Given the description of an element on the screen output the (x, y) to click on. 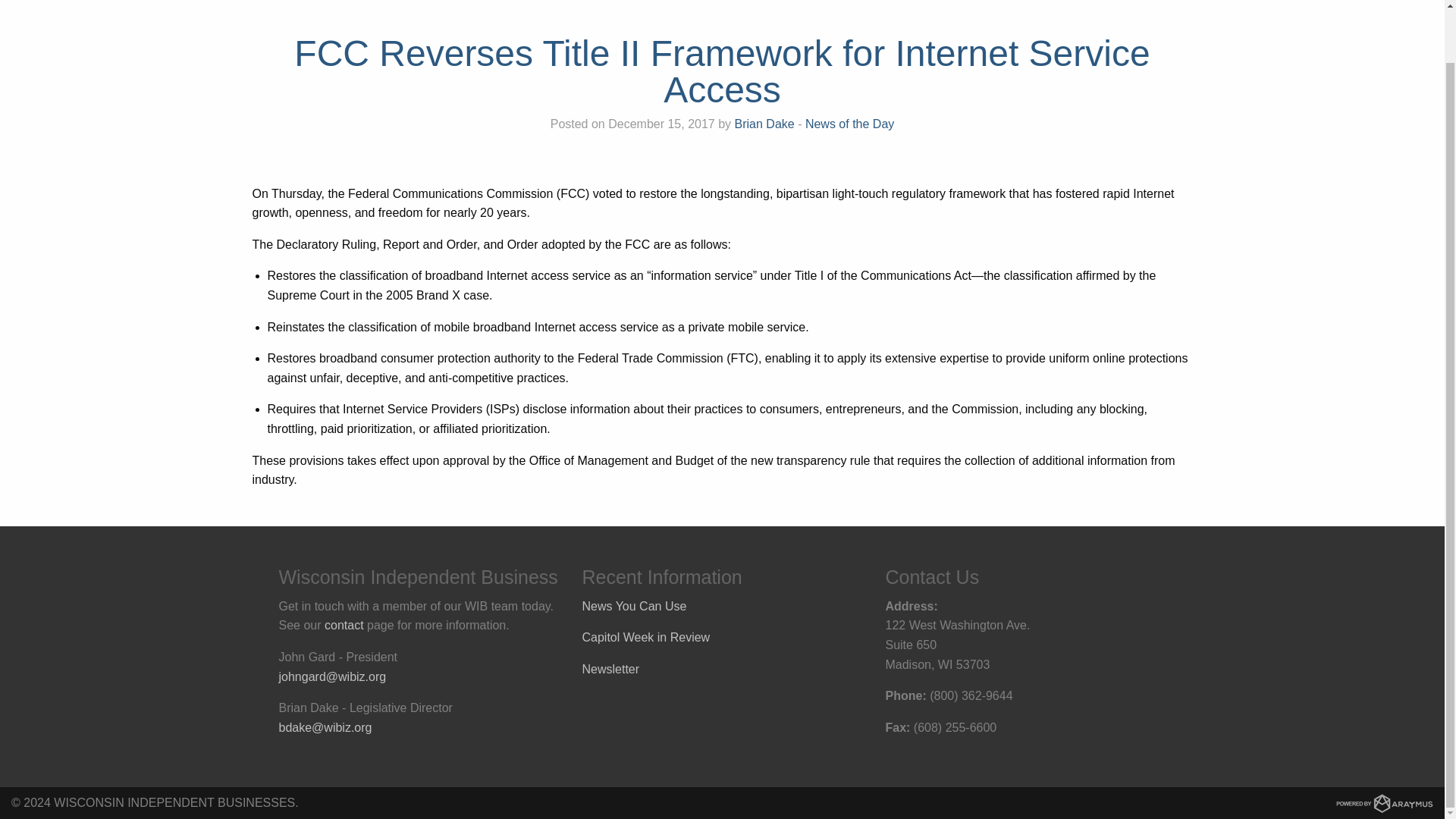
Brian Dake (764, 123)
Newsletter (611, 668)
Capitol Week in Review (646, 636)
News of the Day (849, 123)
Posts by Brian Dake (764, 123)
News You Can Use (634, 605)
contact (344, 625)
